Given the description of an element on the screen output the (x, y) to click on. 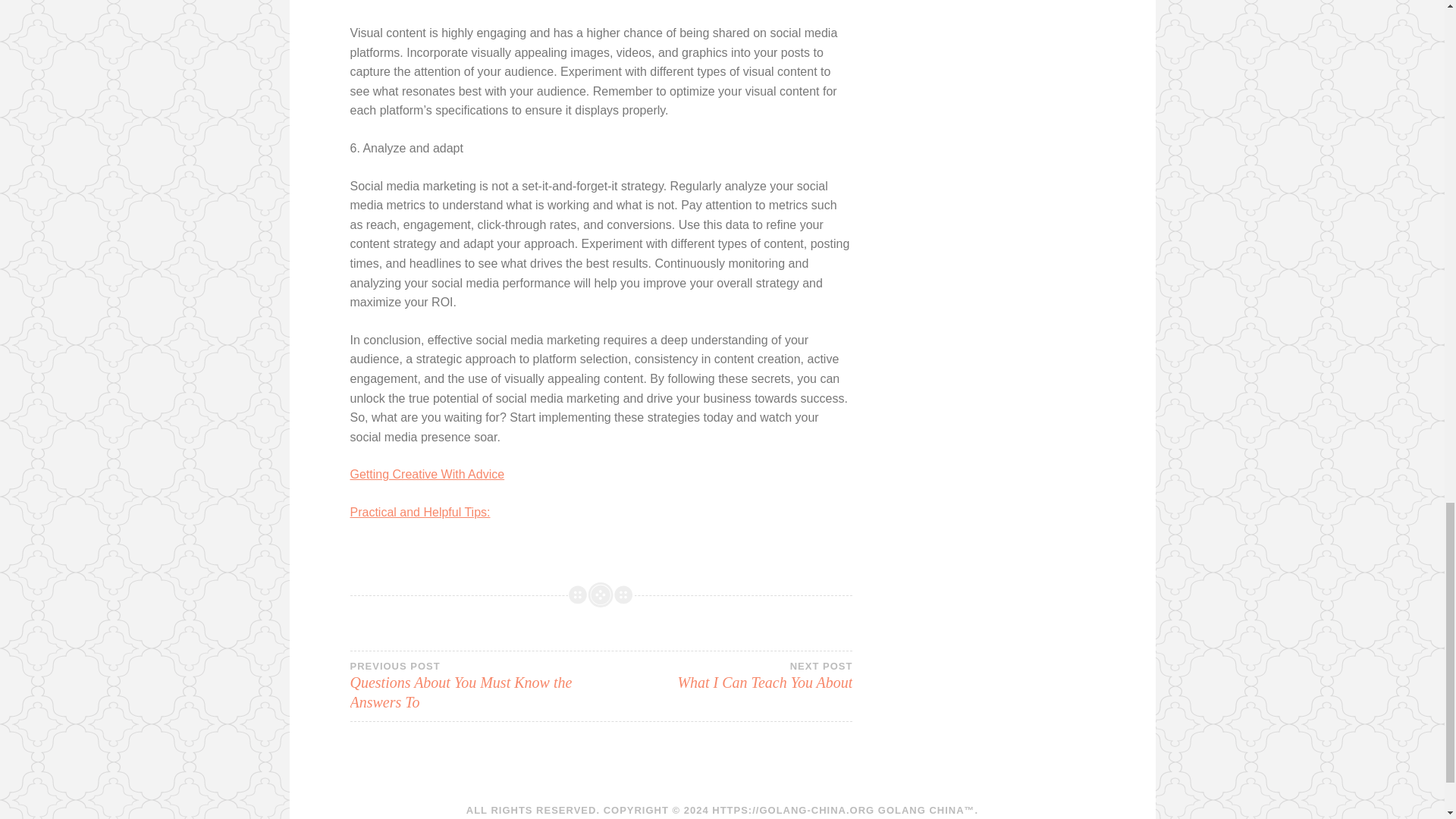
Getting Creative With Advice (427, 473)
Practical and Helpful Tips: (726, 675)
